Given the description of an element on the screen output the (x, y) to click on. 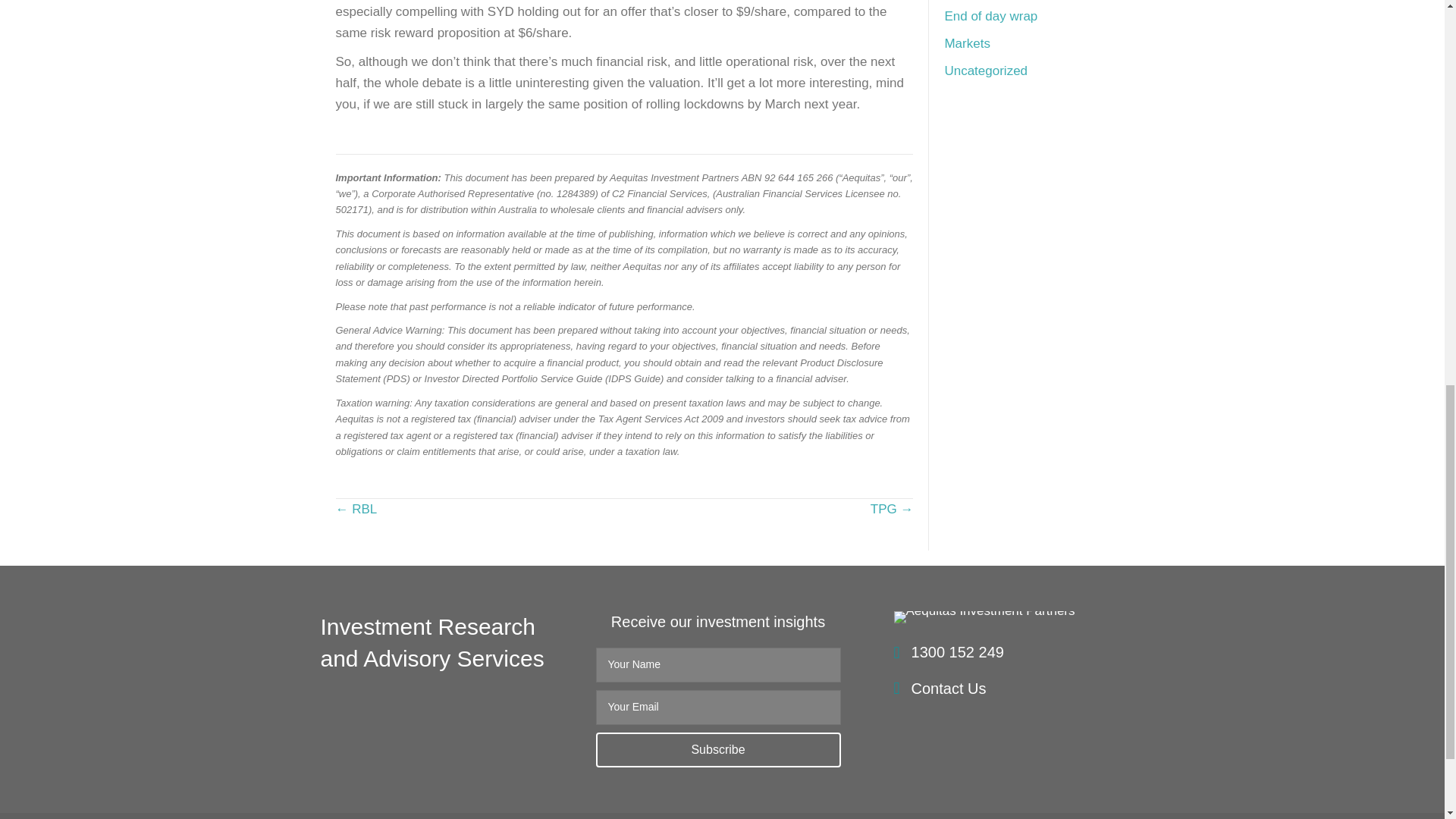
End of day wrap (989, 16)
Contact Us (949, 688)
1300 152 249 (957, 652)
Aequitas Investment Partners (983, 616)
Subscribe (718, 749)
Uncategorized (985, 70)
Markets (966, 43)
Click Here (718, 749)
